Given the description of an element on the screen output the (x, y) to click on. 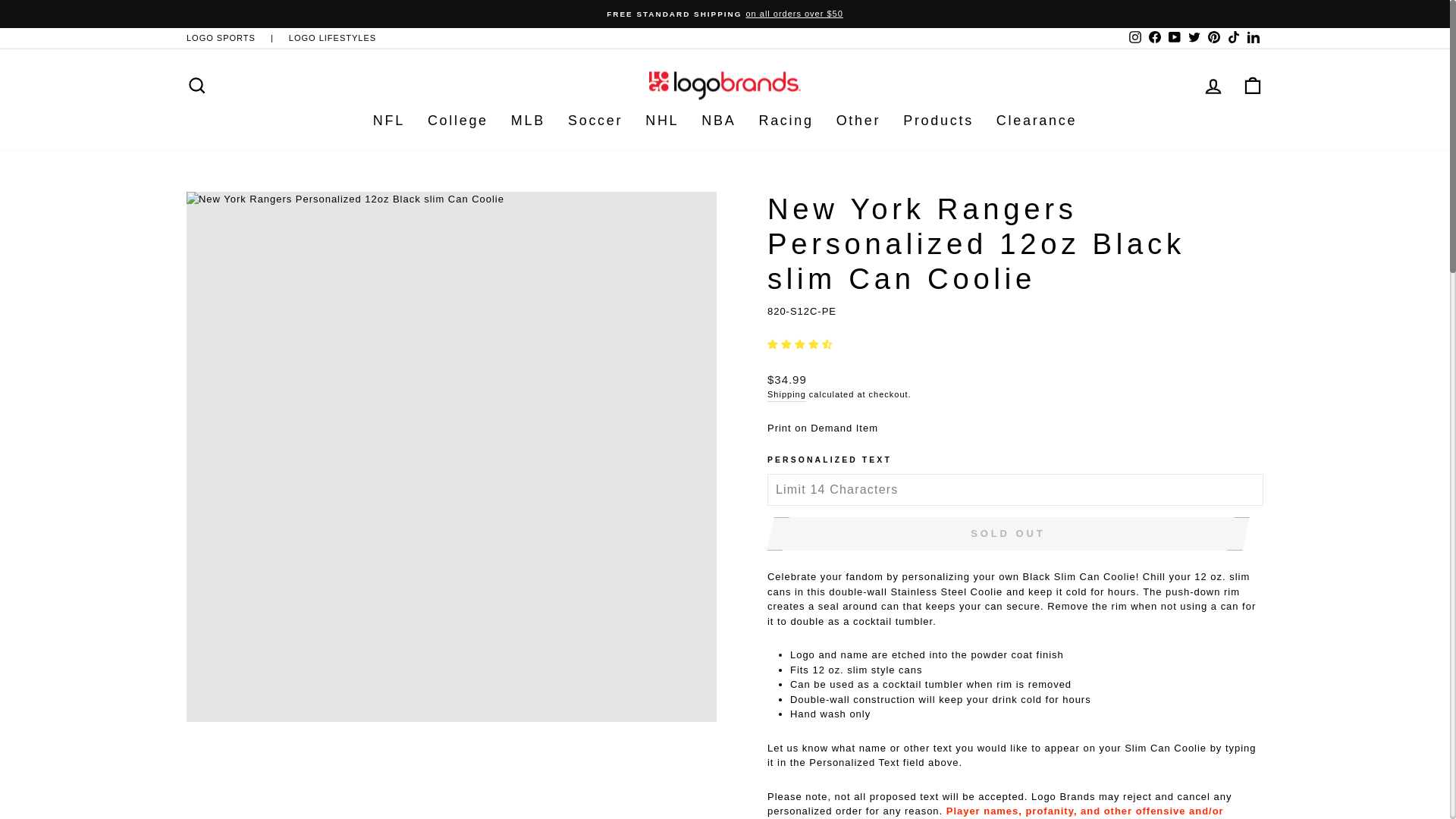
Logo Brands on YouTube (1174, 37)
MLB (527, 121)
NHL (661, 121)
Soccer (594, 121)
NBA (718, 121)
College (457, 121)
Logo Brands on Pinterest (1214, 37)
Logo Brands on Instagram (1134, 37)
Logo Brands on Twitter (1194, 37)
Logo Brands on TikTok (1233, 37)
